Given the description of an element on the screen output the (x, y) to click on. 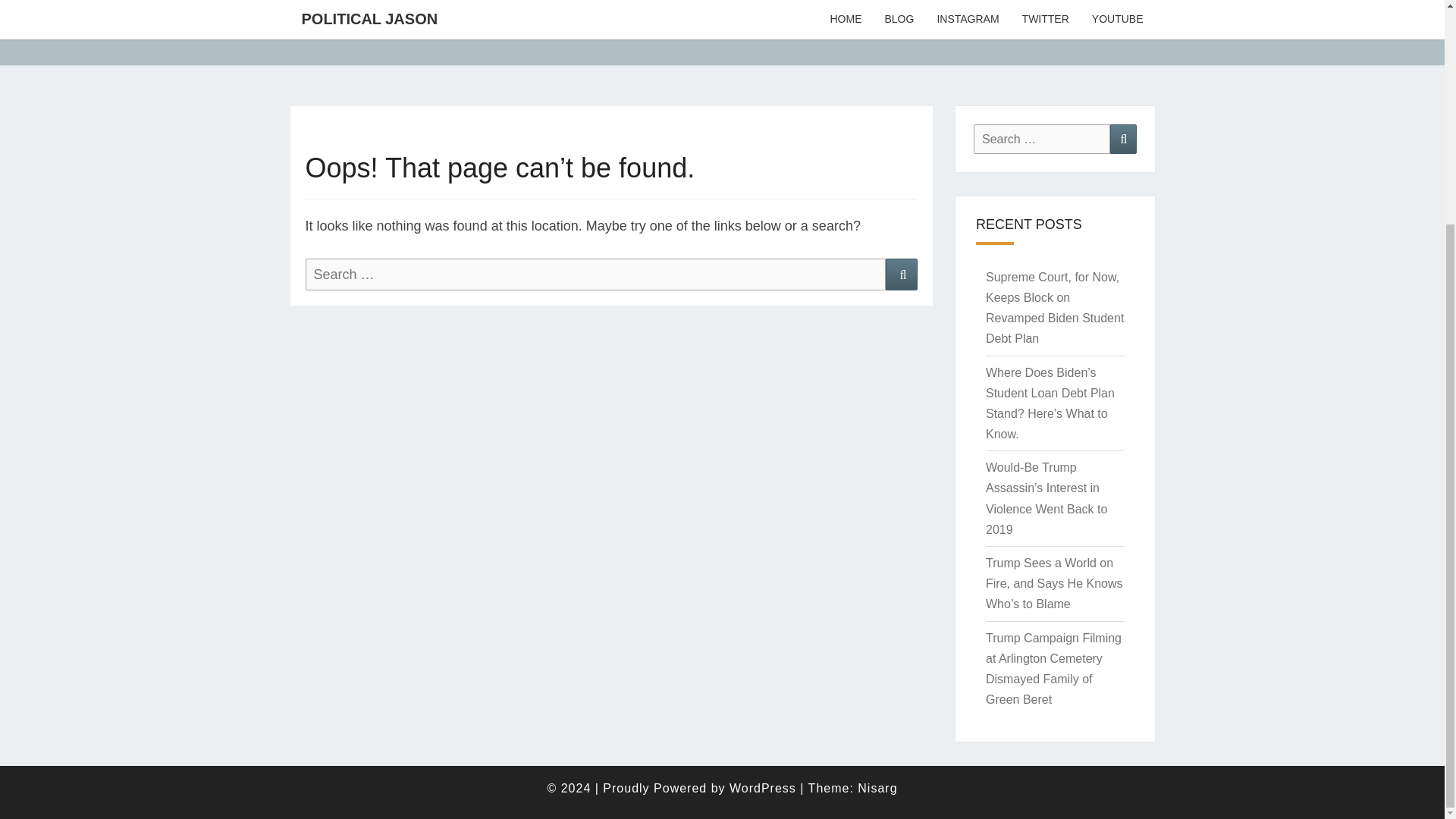
Search (1123, 138)
WordPress (762, 788)
Search (901, 274)
Nisarg (876, 788)
Search for: (1041, 138)
Search for: (594, 274)
